Given the description of an element on the screen output the (x, y) to click on. 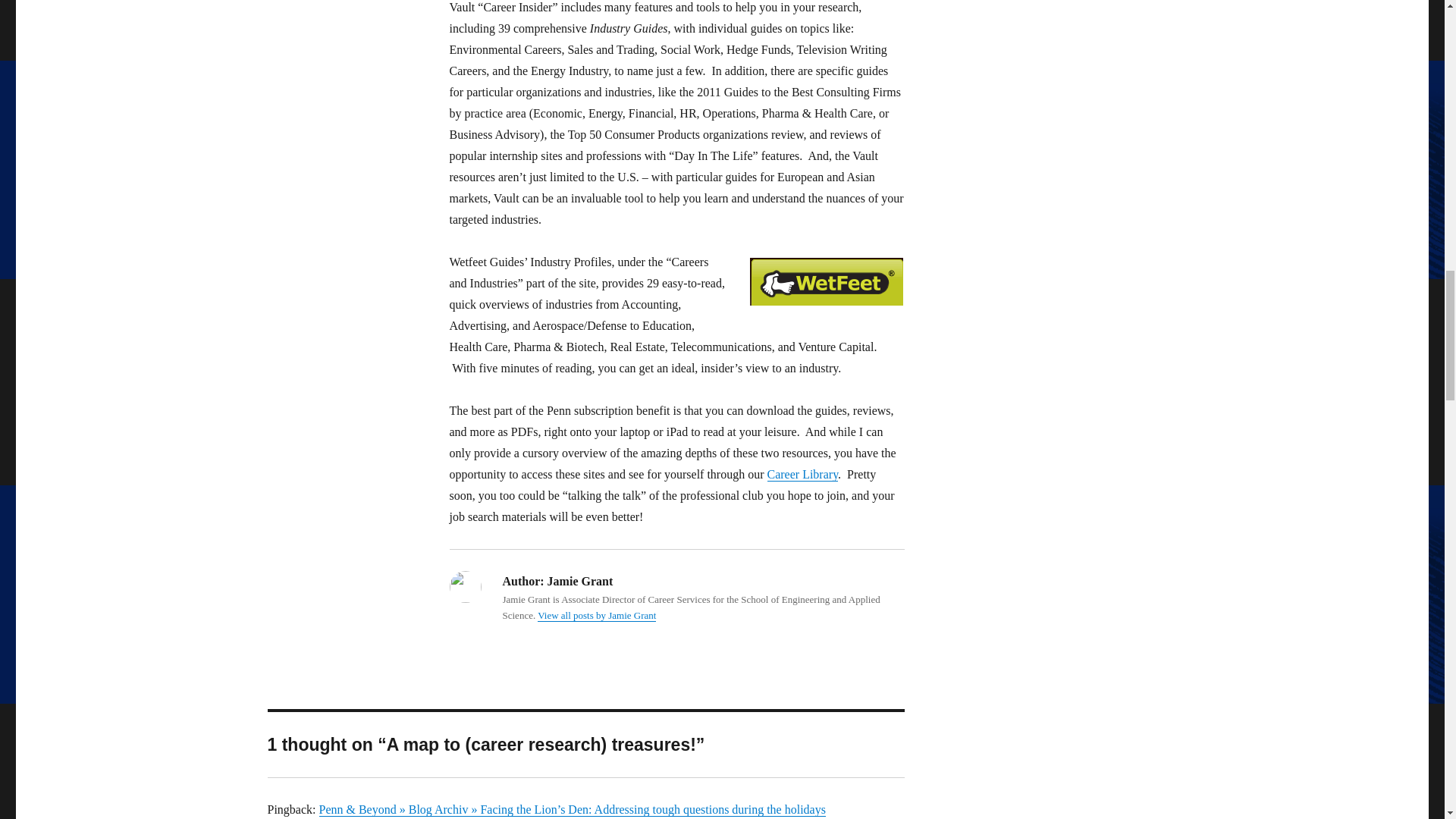
View all posts by Jamie Grant (596, 614)
Career Library (802, 473)
Untitled-1 copy (826, 281)
